Given the description of an element on the screen output the (x, y) to click on. 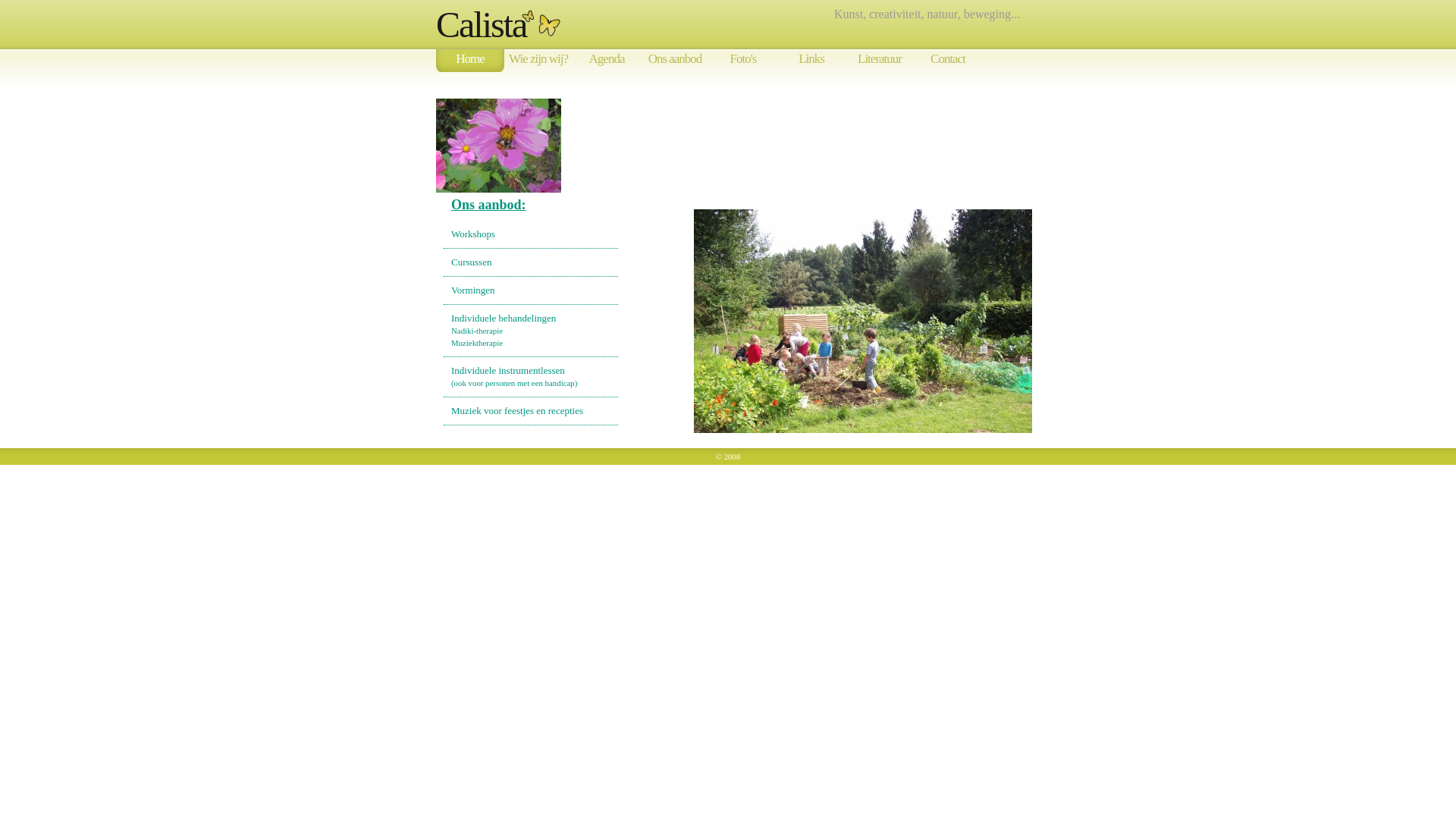
Home Element type: text (470, 61)
Vormingen Element type: text (473, 289)
Wie zijn wij? Element type: text (538, 61)
Individuele behandelingen
Nadiki-therapie
Muziektherapie Element type: text (503, 330)
Literatuur Element type: text (879, 61)
Muziek voor feestjes en recepties Element type: text (517, 410)
Cursussen Element type: text (471, 261)
Contact Element type: text (947, 61)
Foto's Element type: text (743, 61)
Ons aanbod Element type: text (674, 61)
Calista Element type: text (481, 24)
Links Element type: text (811, 61)
Workshops Element type: text (473, 233)
Agenda Element type: text (606, 61)
